Given the description of an element on the screen output the (x, y) to click on. 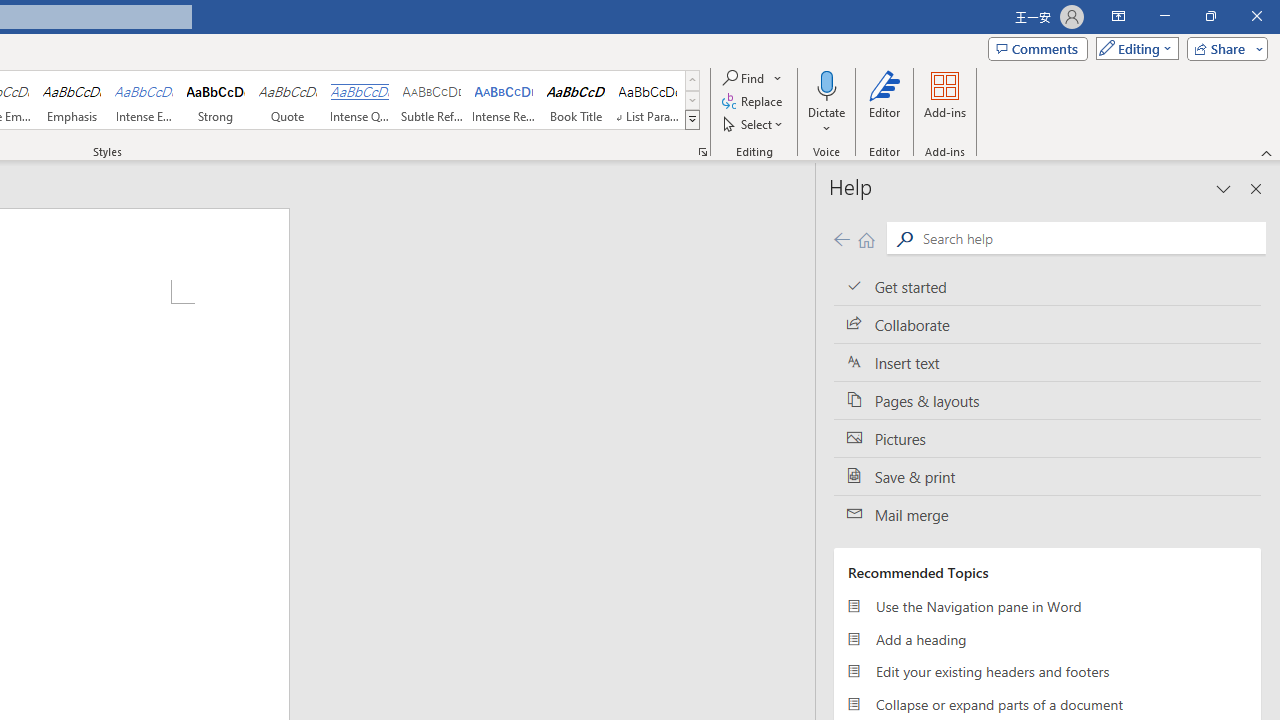
Collaborate (1047, 325)
Intense Quote (359, 100)
Styles... (702, 151)
Minimize (1164, 16)
Save & print (1047, 476)
Editor (885, 102)
Search (904, 238)
Close (1256, 16)
Comments (1038, 48)
Replace... (753, 101)
Subtle Reference (431, 100)
Mode (1133, 47)
Edit your existing headers and footers (1047, 672)
Add a heading (1047, 638)
Quote (287, 100)
